Given the description of an element on the screen output the (x, y) to click on. 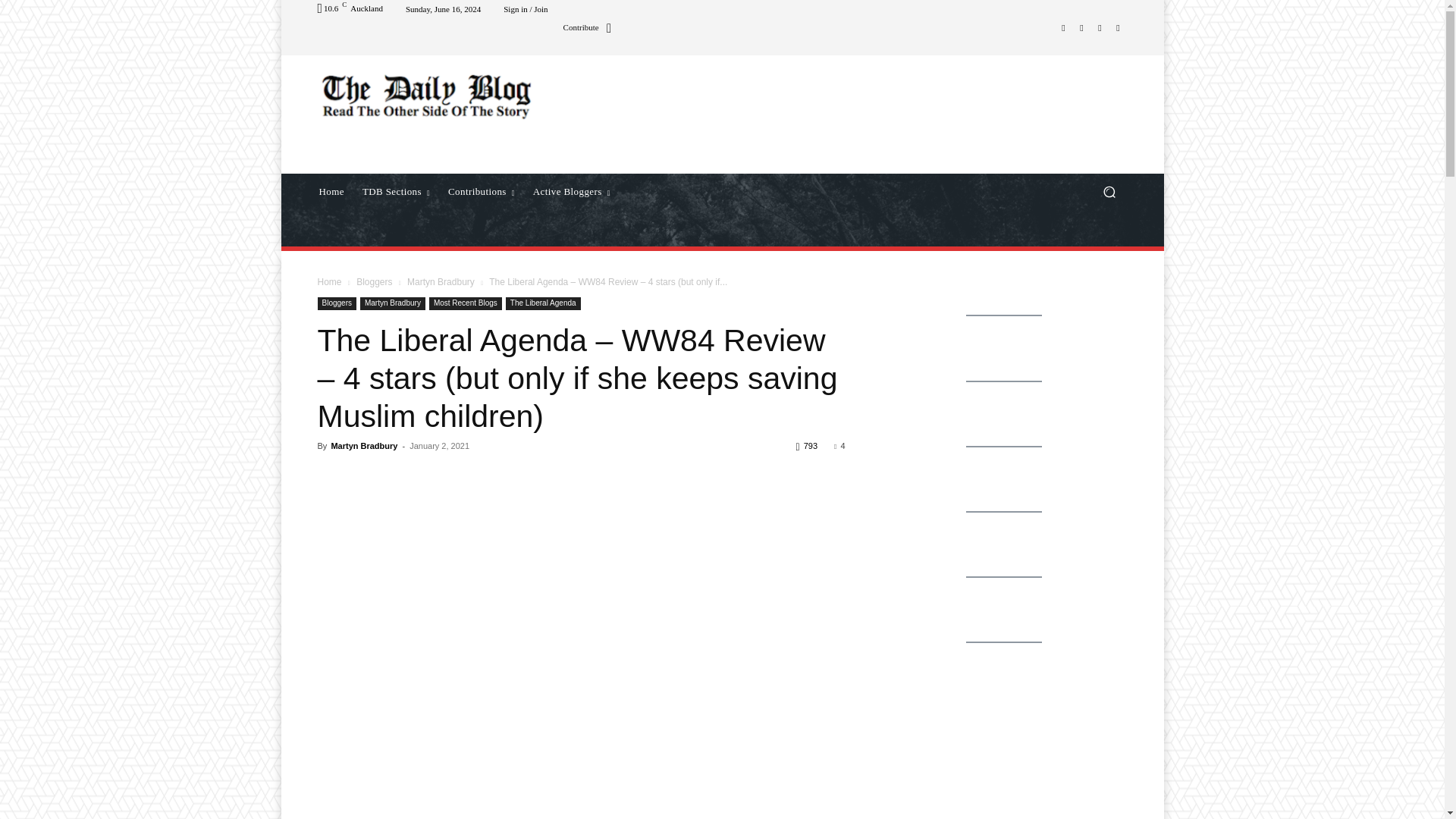
Active Bloggers (572, 191)
Contributions (481, 191)
View all posts in Martyn Bradbury (440, 281)
Instagram (1080, 27)
Facebook (1062, 27)
Youtube (1117, 27)
View all posts in Bloggers (373, 281)
Home (330, 191)
TDB Sections (396, 191)
Twitter (1099, 27)
